Given the description of an element on the screen output the (x, y) to click on. 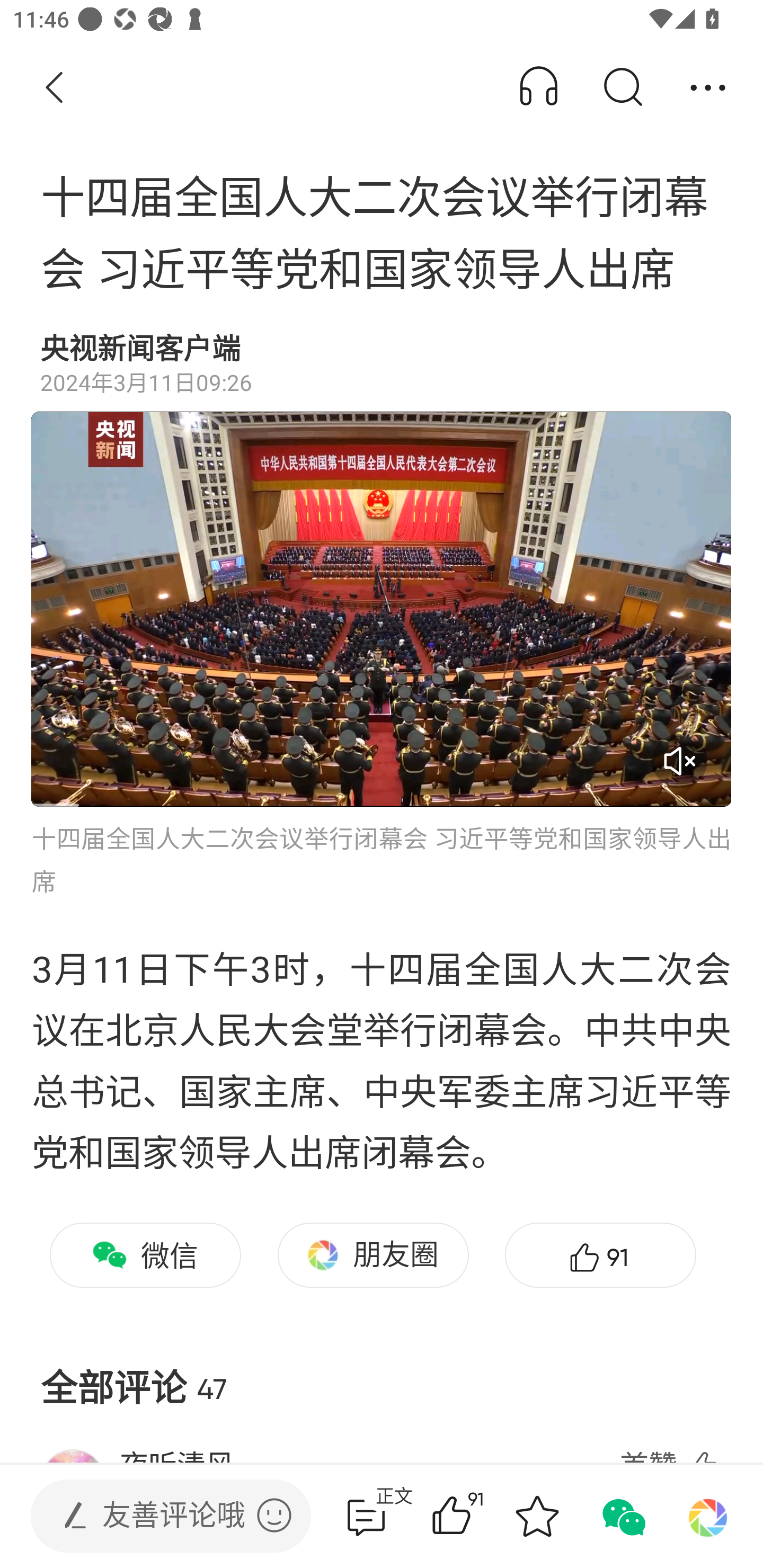
搜索  (622, 87)
分享  (707, 87)
 返回 (54, 87)
央视新闻客户端 2024年3月11日09:26 (381, 364)
00:47 (381, 608)
音量开关 (679, 760)
微信 分享到微信 (145, 1255)
朋友圈 分享到朋友圈 (373, 1255)
91赞 (600, 1255)
全部评论 47 (381, 1373)
发表评论  友善评论哦 发表评论  (155, 1516)
47评论  正文 正文 (365, 1516)
91赞 (476, 1516)
收藏  (536, 1516)
分享到微信  (622, 1516)
分享到朋友圈 (707, 1516)
 (274, 1515)
